Given the description of an element on the screen output the (x, y) to click on. 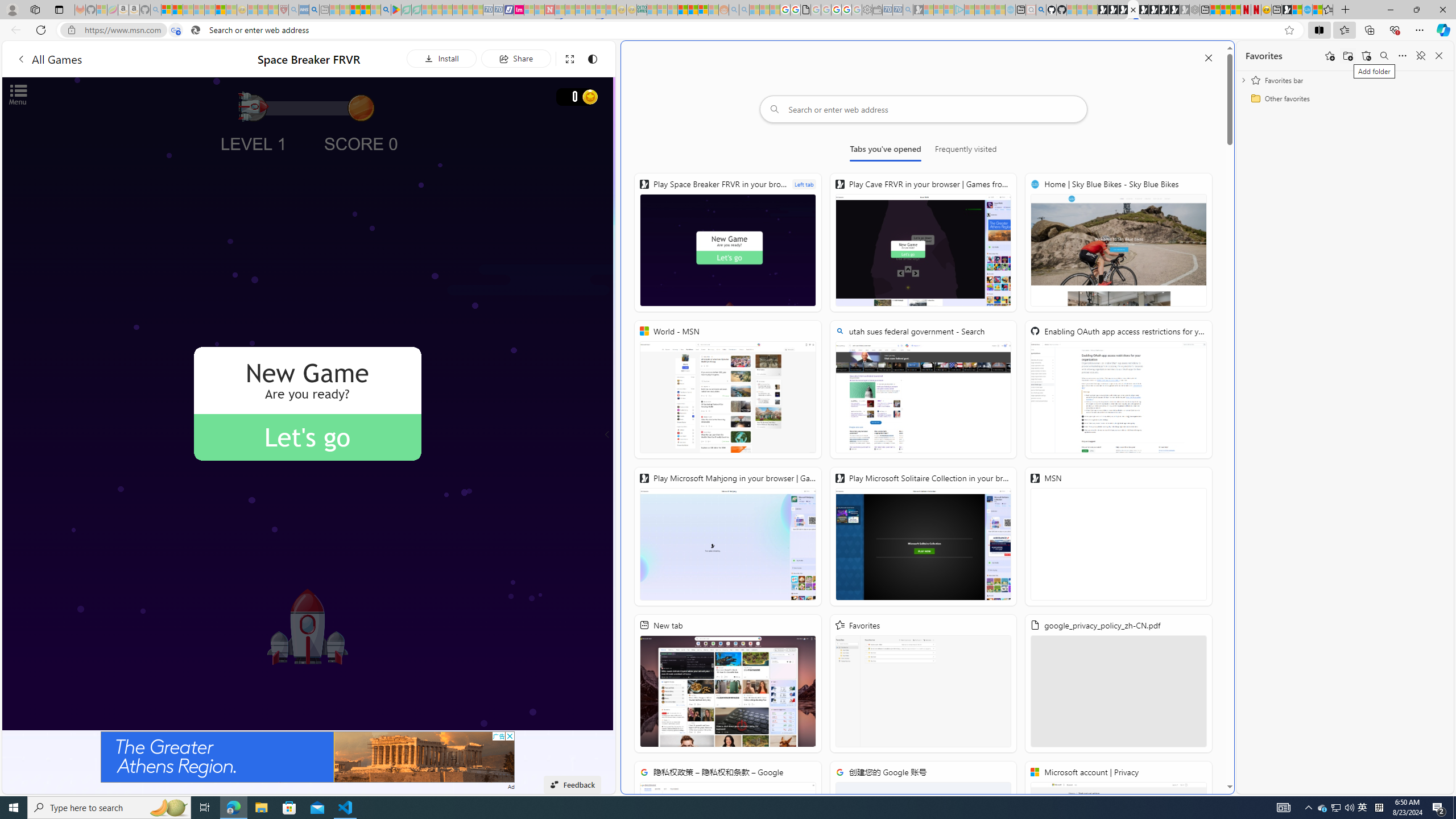
Kinda Frugal - MSN (692, 9)
Pets - MSN (365, 9)
Close split screen (1208, 57)
